Given the description of an element on the screen output the (x, y) to click on. 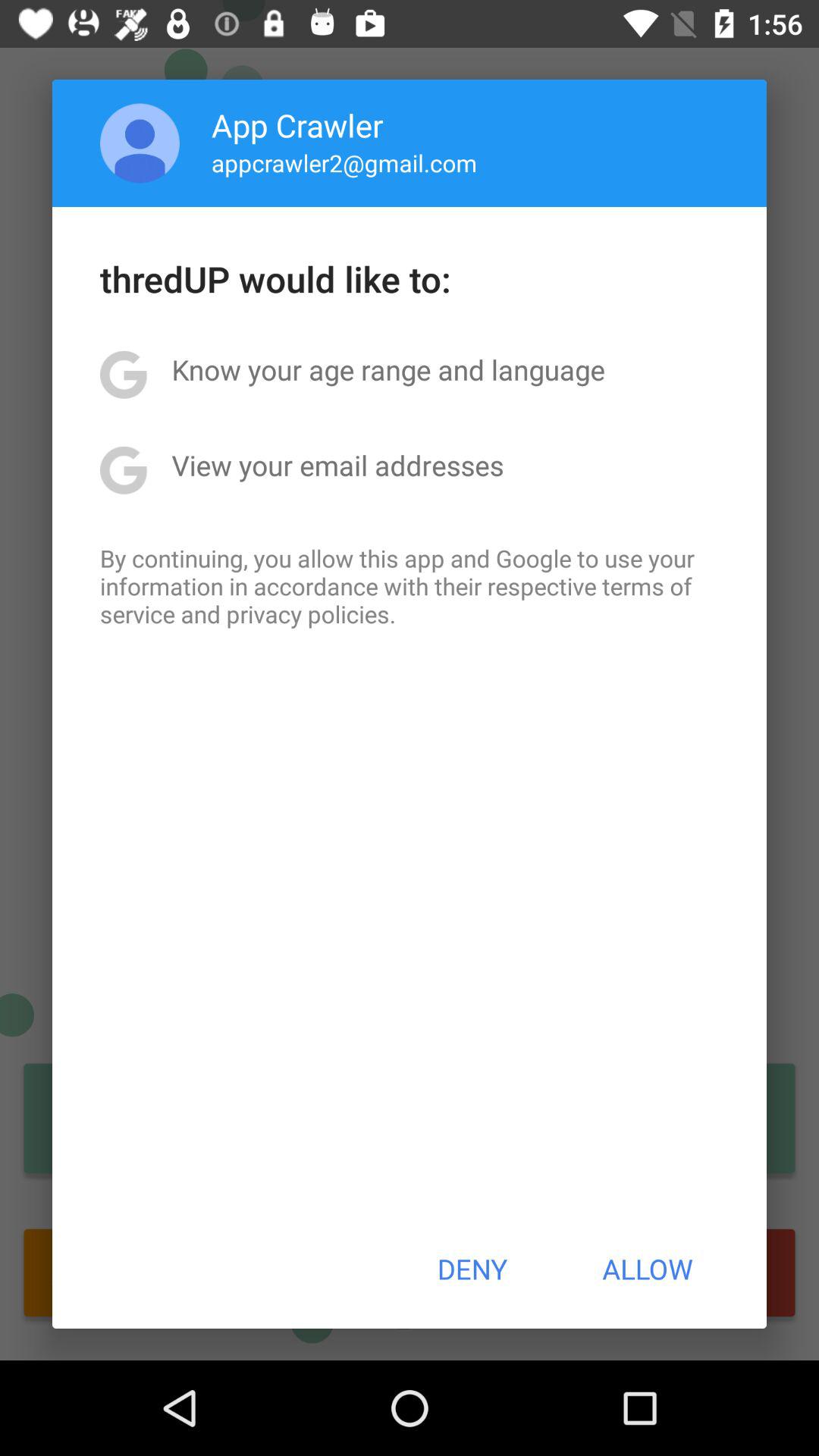
choose app above appcrawler2@gmail.com icon (297, 124)
